Given the description of an element on the screen output the (x, y) to click on. 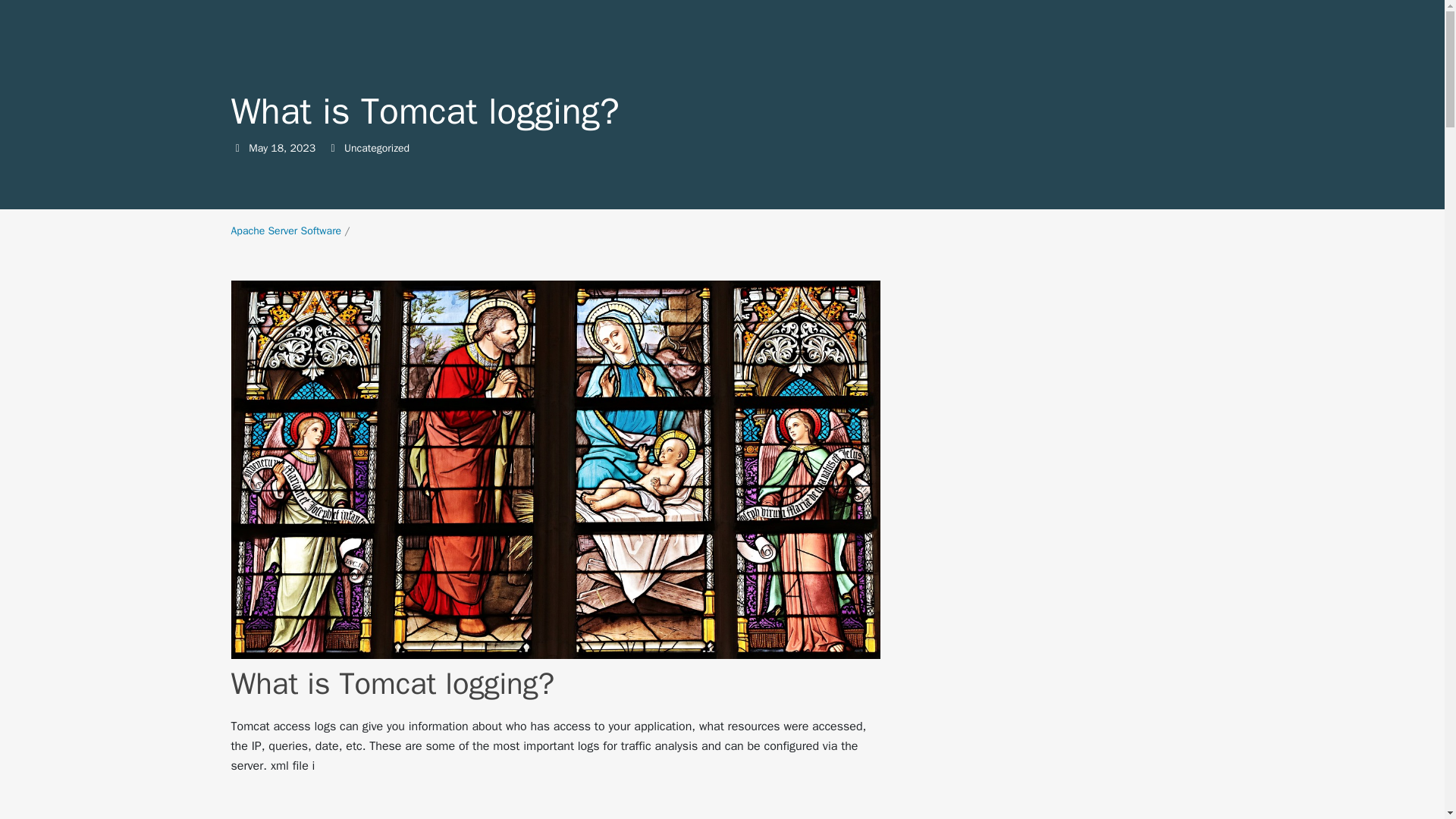
May (285, 230)
2023 (257, 147)
18 (302, 147)
